Given the description of an element on the screen output the (x, y) to click on. 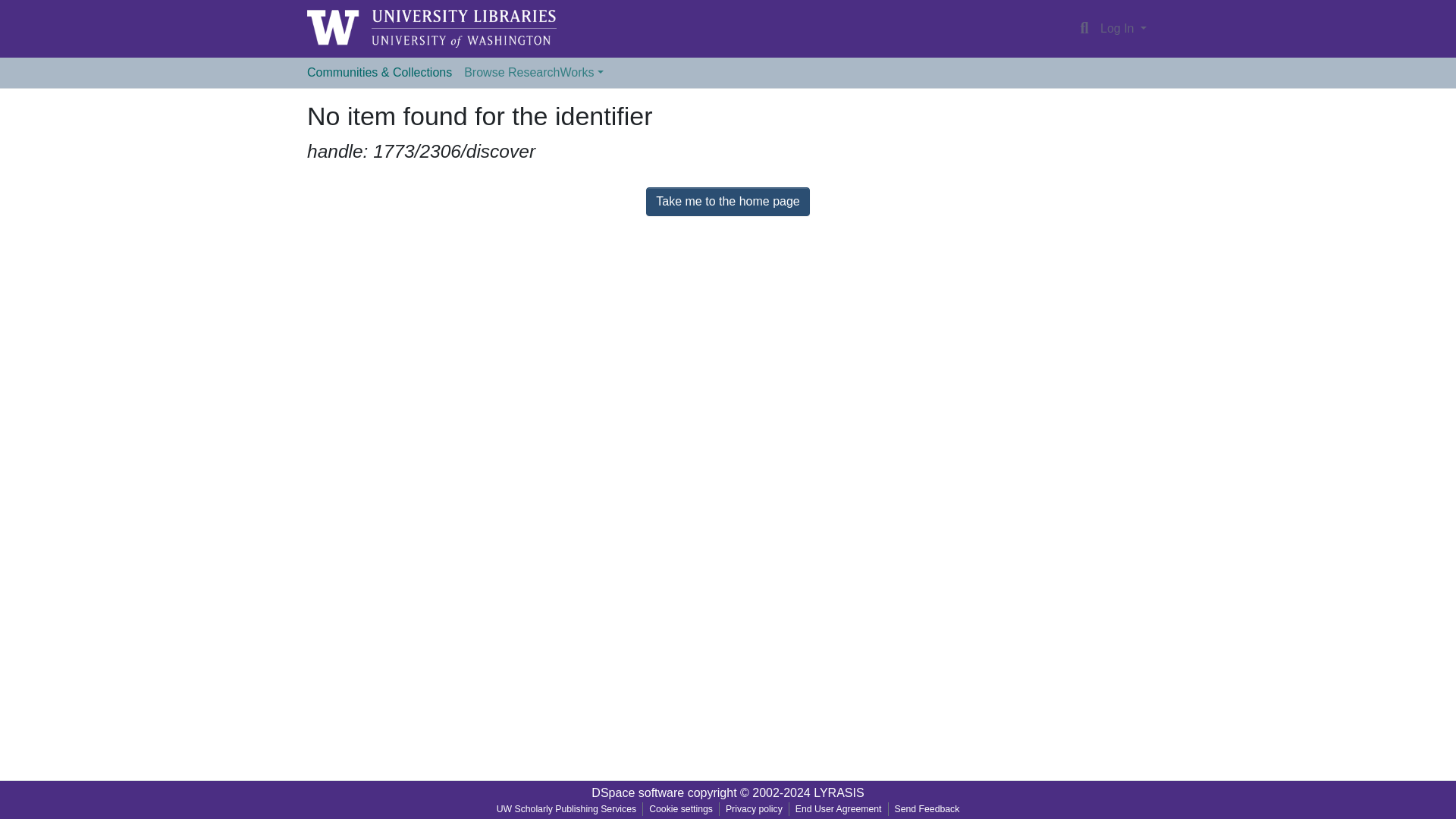
Send Feedback (927, 808)
UW Scholarly Publishing Services (566, 808)
DSpace software (637, 792)
Privacy policy (754, 808)
Browse ResearchWorks (533, 72)
End User Agreement (838, 808)
Take me to the home page (727, 201)
Log In (1122, 28)
Search (1084, 28)
LYRASIS (838, 792)
